Given the description of an element on the screen output the (x, y) to click on. 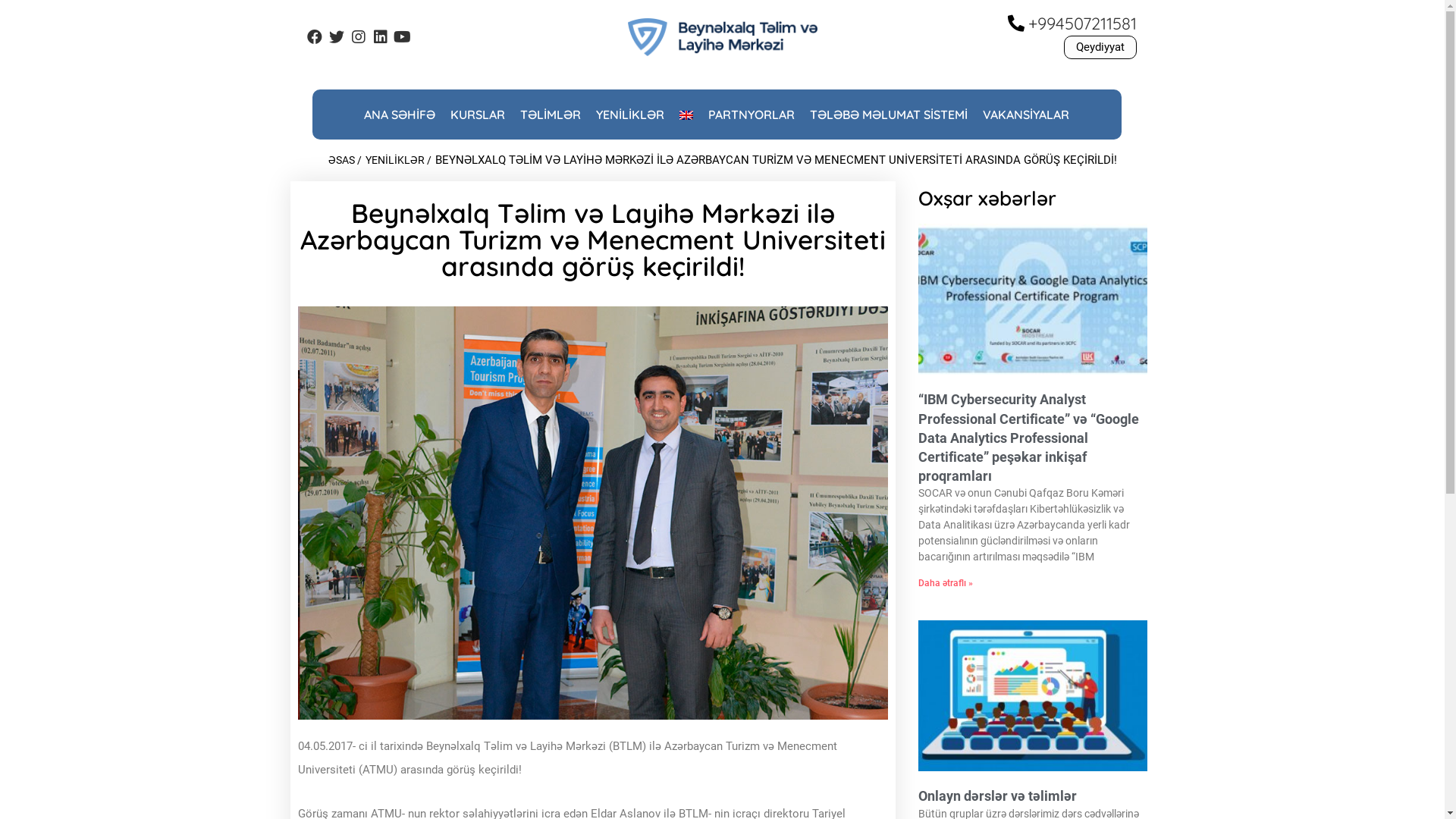
KURSLAR Element type: text (477, 114)
+994507211581 Element type: text (1082, 23)
VAKANSIYALAR Element type: text (1025, 114)
Qeydiyyat Element type: text (1099, 47)
PARTNYORLAR Element type: text (751, 114)
EN Element type: hover (686, 114)
